Given the description of an element on the screen output the (x, y) to click on. 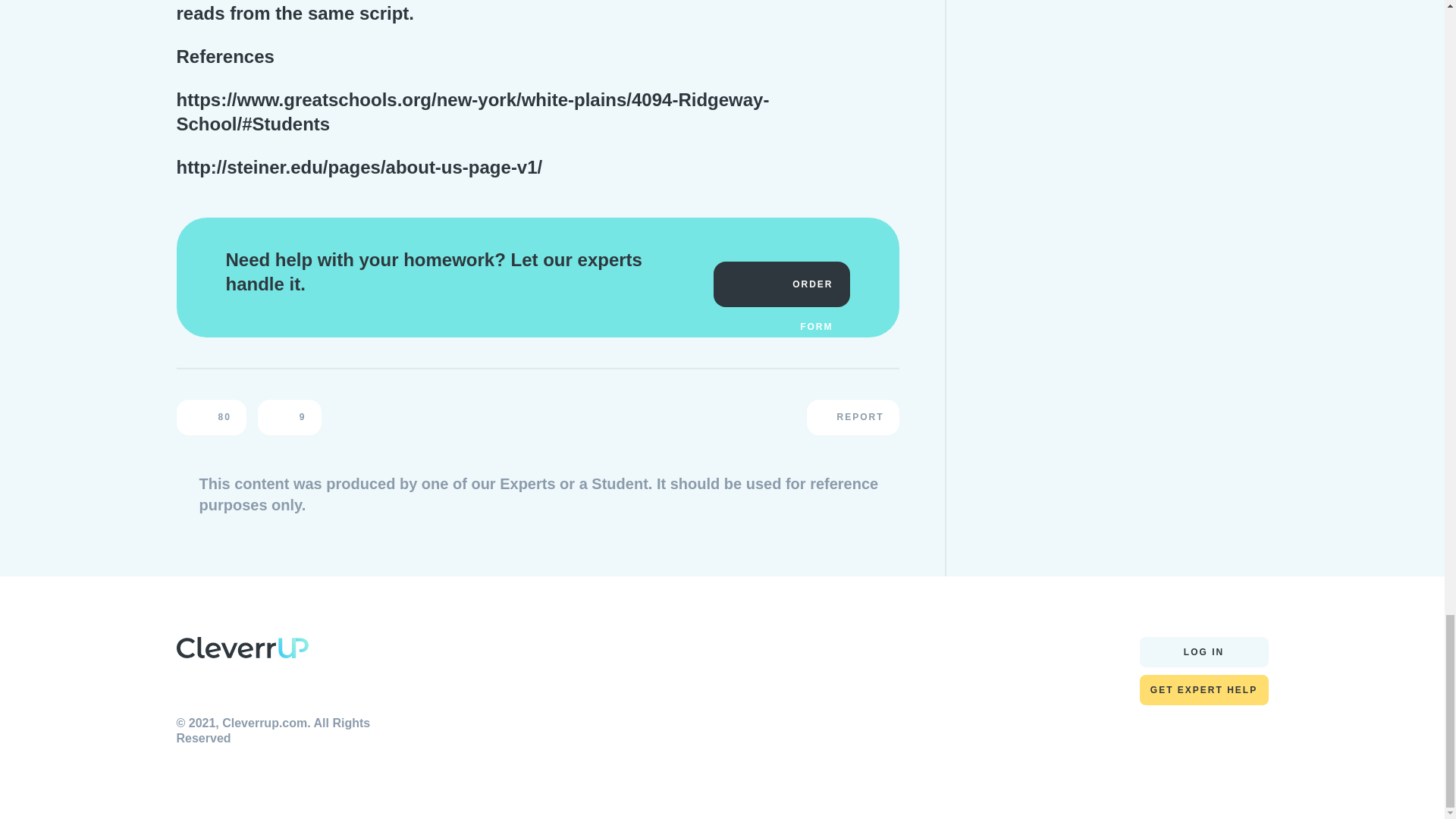
REPORT (852, 416)
80 (211, 416)
logo (241, 647)
Home (241, 651)
ORDER FORM (780, 284)
9 (289, 416)
